Given the description of an element on the screen output the (x, y) to click on. 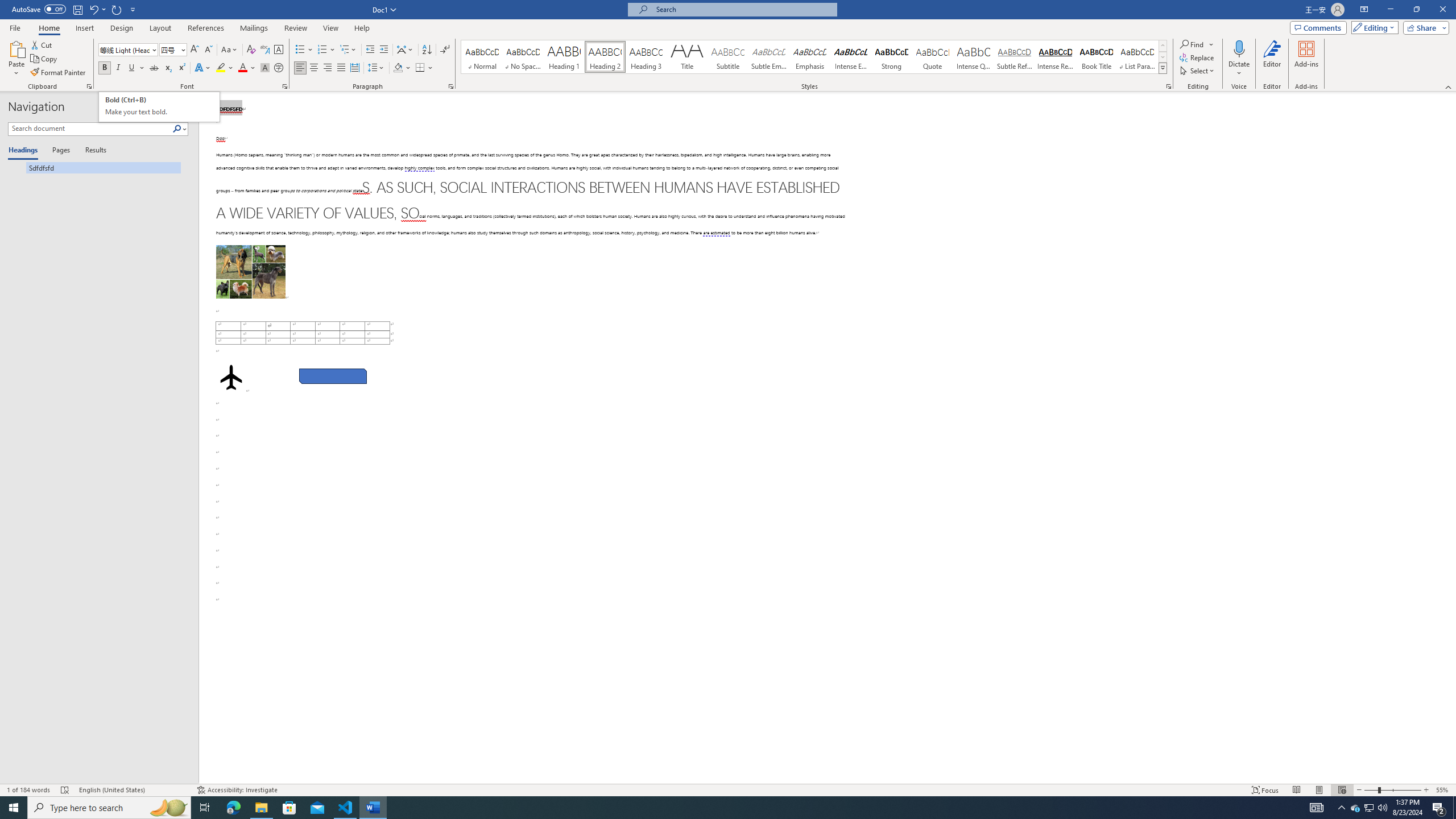
Row Down (1162, 56)
Shading (402, 67)
Intense Reference (1055, 56)
Increase Indent (383, 49)
Copy (45, 58)
Enclose Characters... (278, 67)
Line and Paragraph Spacing (376, 67)
Underline (131, 67)
Accessibility Checker Accessibility: Investigate (237, 790)
Focus  (1265, 790)
Undo Bold (92, 9)
Align Left (300, 67)
Editor (1272, 58)
Select (1197, 69)
